Given the description of an element on the screen output the (x, y) to click on. 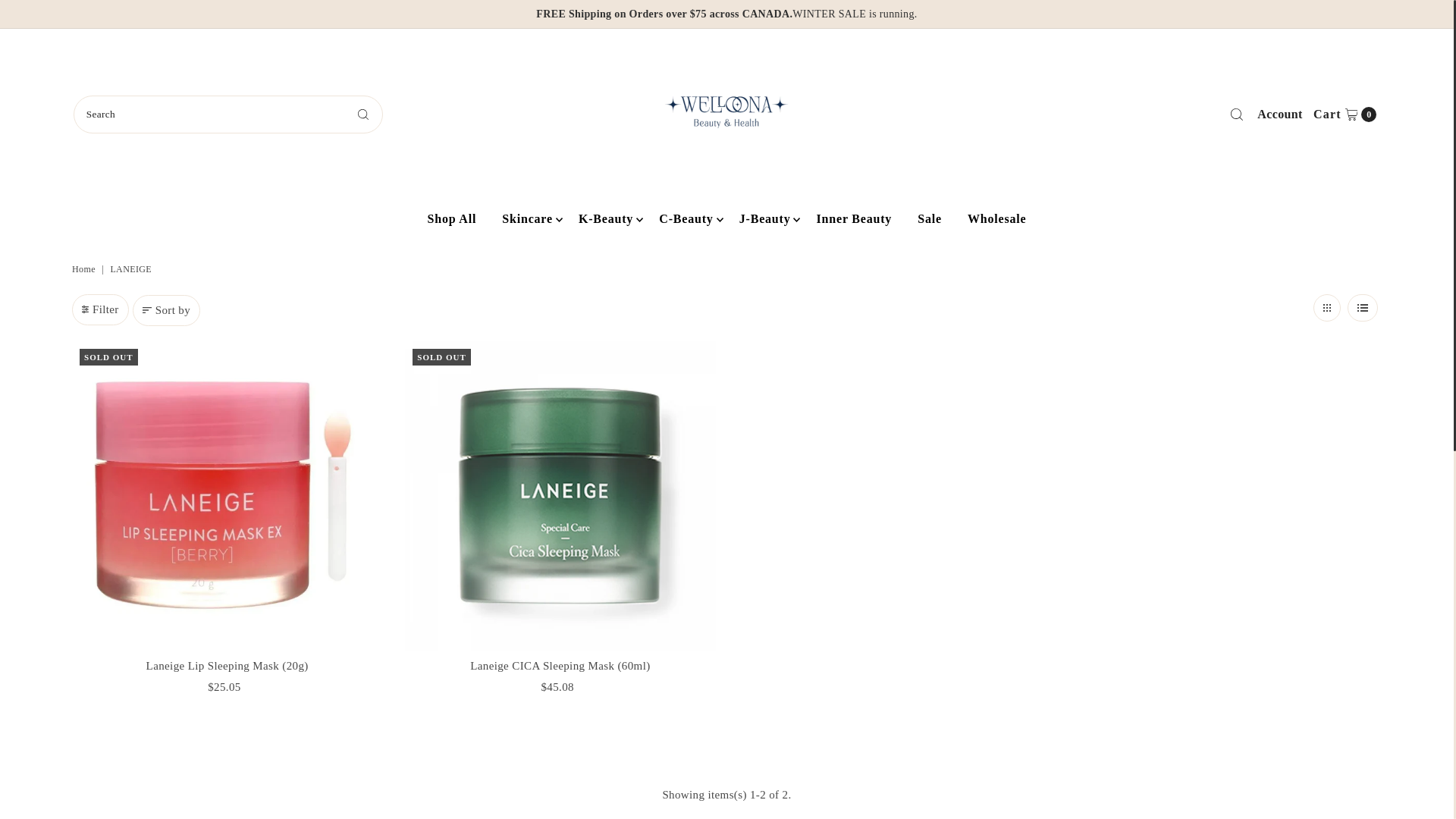
Shop All (1344, 114)
Account (451, 218)
Skincare (1279, 114)
Home (527, 218)
